Given the description of an element on the screen output the (x, y) to click on. 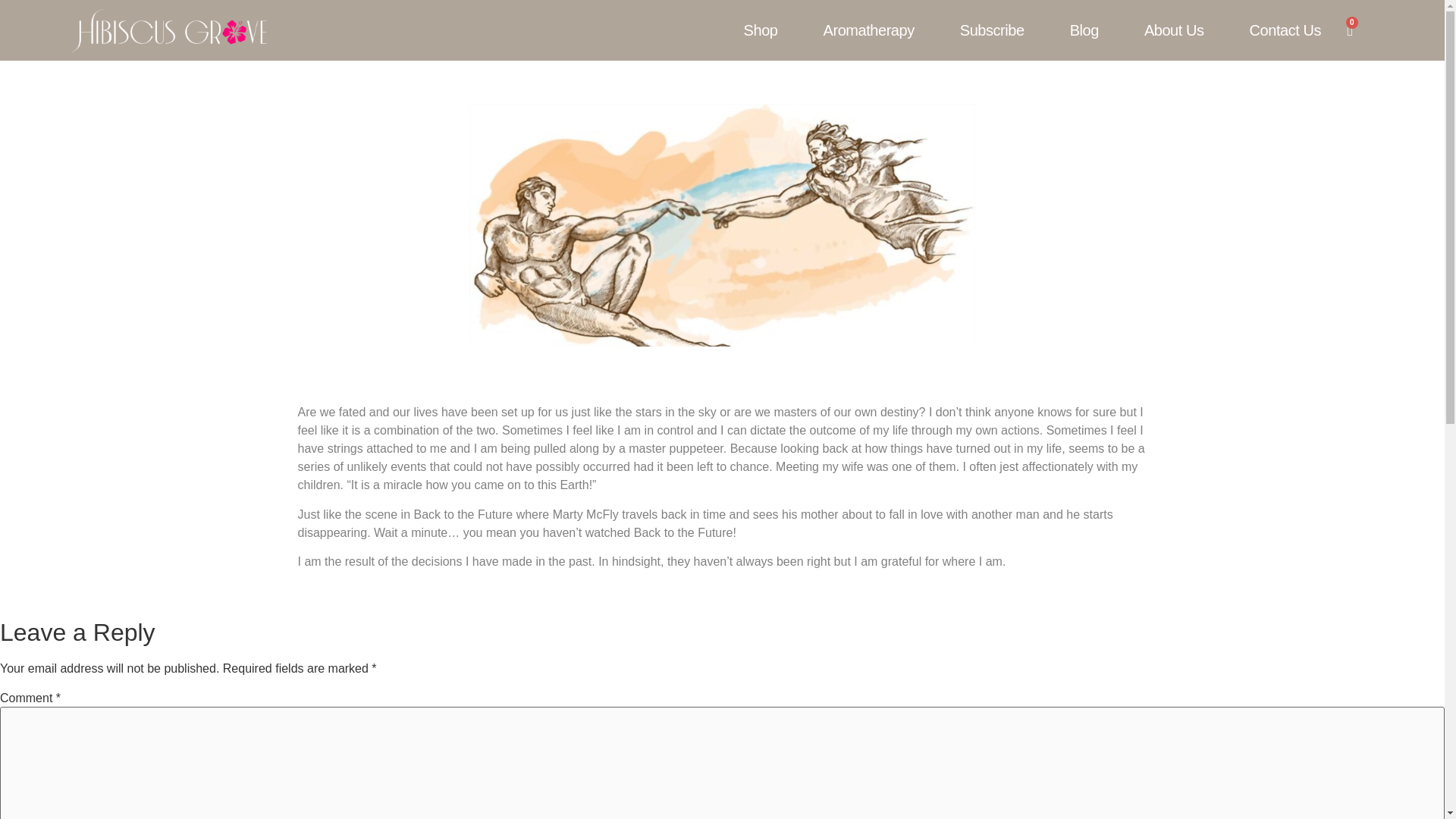
About Us (1174, 30)
Blog (1084, 30)
0 (1349, 30)
Aromatherapy (868, 30)
Subscribe (992, 30)
Shop (761, 30)
Contact Us (1284, 30)
